Given the description of an element on the screen output the (x, y) to click on. 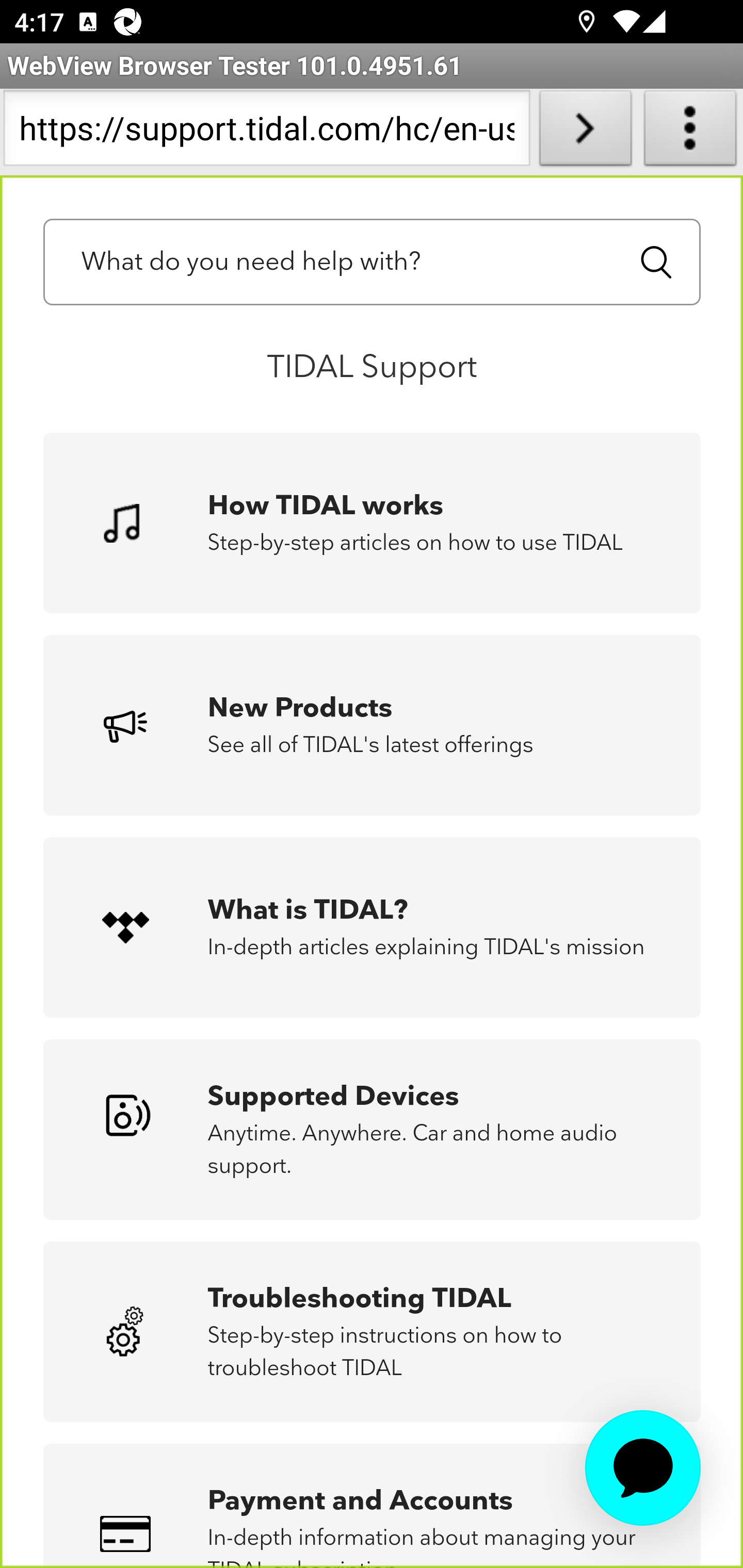
https://support.tidal.com/hc/en-us (266, 132)
Load URL (585, 132)
About WebView (690, 132)
